Given the description of an element on the screen output the (x, y) to click on. 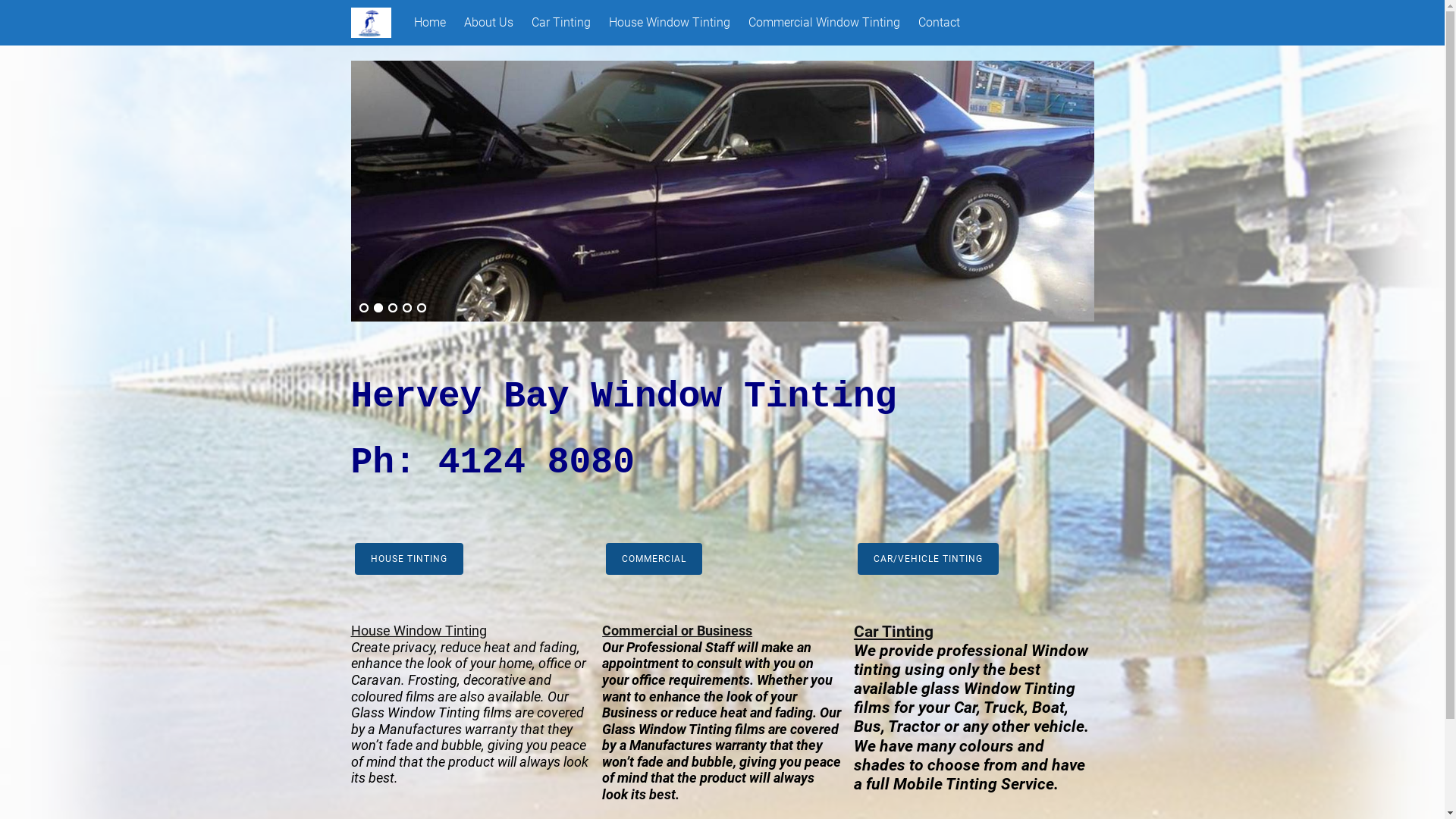
CAR/VEHICLE TINTING Element type: text (927, 558)
5 Element type: text (420, 308)
Commercial Window Tinting Element type: text (823, 22)
Car Tinting Element type: text (561, 22)
House Window Tinting Element type: text (669, 22)
1 Element type: text (362, 308)
4 Element type: text (406, 308)
About Us Element type: text (488, 22)
2 Element type: text (378, 308)
Home Element type: text (429, 22)
3 Element type: text (391, 308)
Contact Element type: text (938, 22)
COMMERCIAL Element type: text (653, 558)
HOUSE TINTING Element type: text (408, 558)
